Given the description of an element on the screen output the (x, y) to click on. 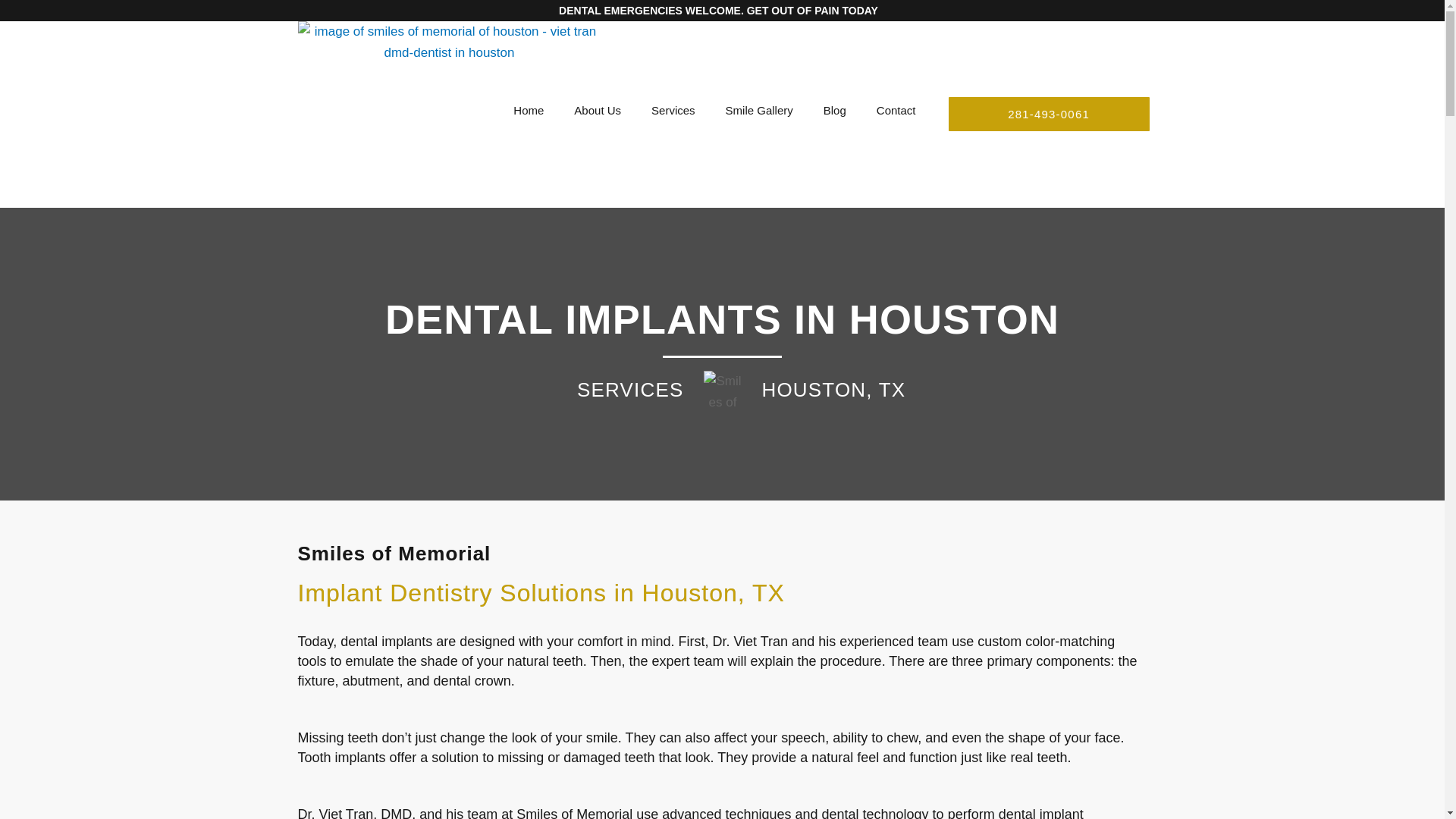
Home (528, 110)
DENTAL EMERGENCIES WELCOME. GET OUT OF PAIN TODAY (718, 10)
Services (673, 110)
About Us (597, 110)
